Given the description of an element on the screen output the (x, y) to click on. 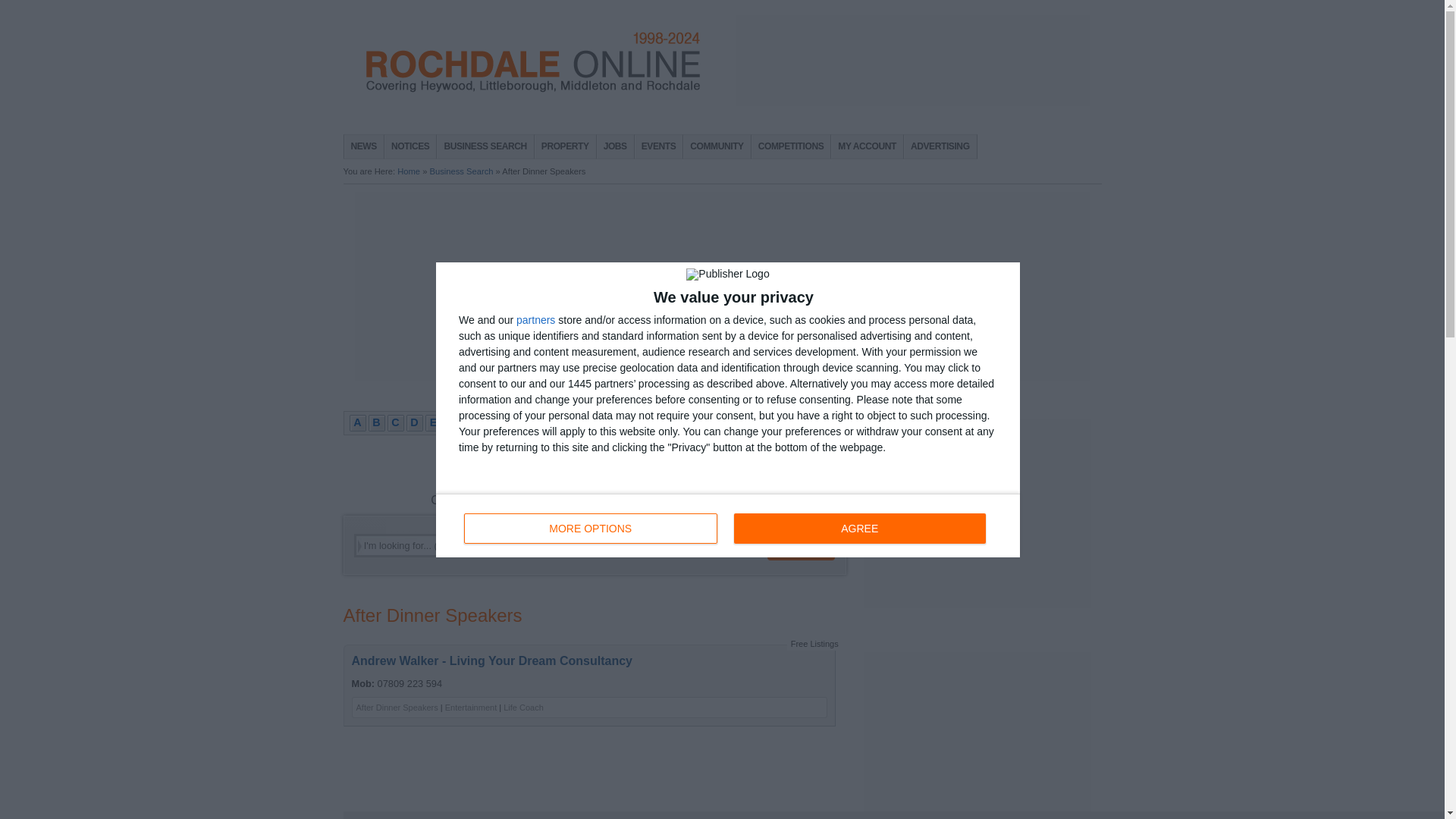
JOBS (614, 146)
partners (535, 318)
Rochdale Online  Logo (531, 61)
AGREE (859, 527)
Search (800, 545)
NOTICES (410, 146)
BUSINESS SEARCH (484, 146)
NEWS (727, 524)
MORE OPTIONS (363, 146)
EVENTS (590, 527)
PROPERTY (658, 146)
